Given the description of an element on the screen output the (x, y) to click on. 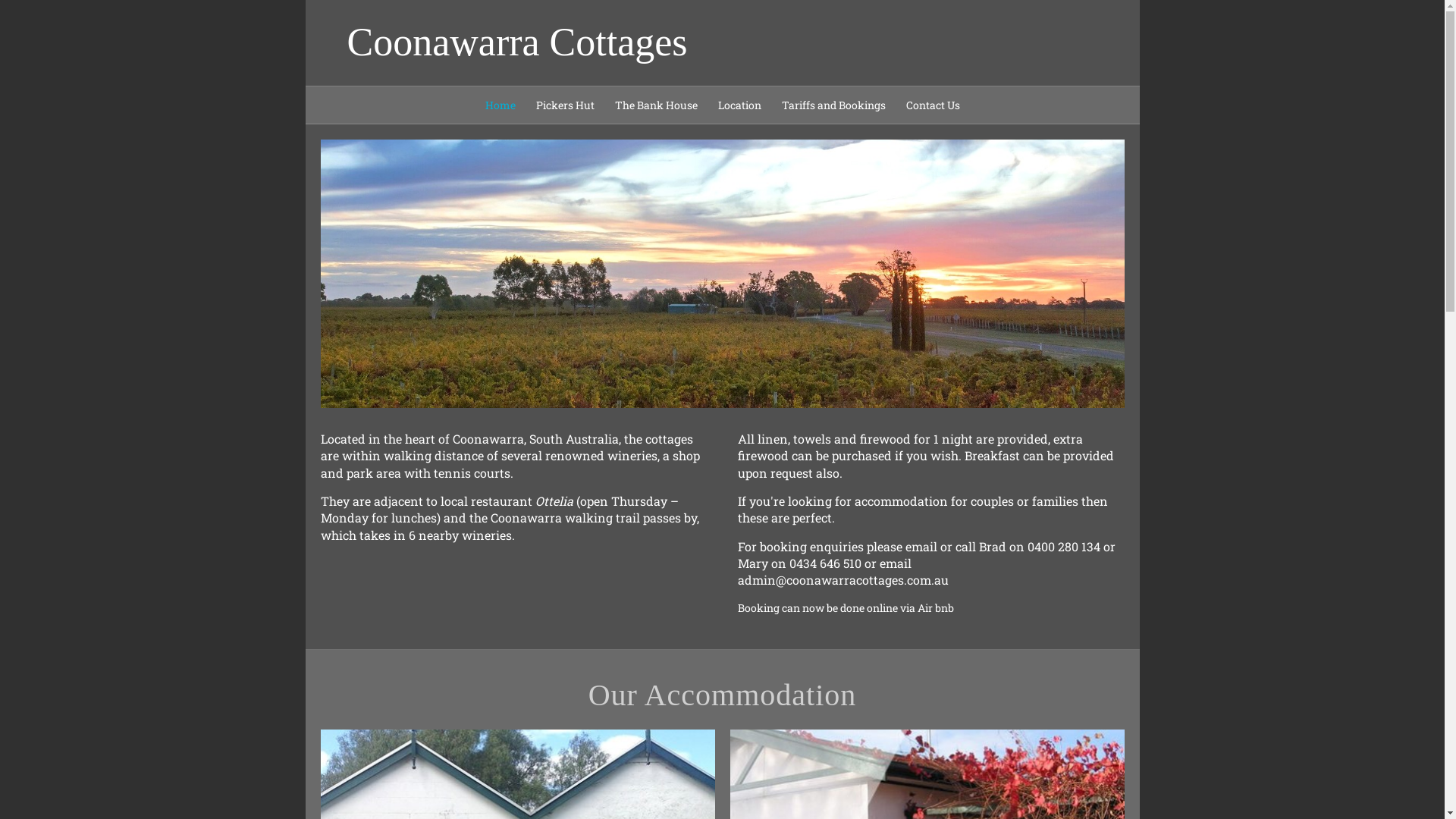
Coonwarra Vineyard Element type: hover (721, 273)
The Bank House Element type: text (655, 105)
Coonawarra Cottages Element type: text (617, 42)
Home Element type: text (500, 105)
Pickers Hut Element type: text (564, 105)
Tariffs and Bookings Element type: text (832, 105)
Contact Us Element type: text (932, 105)
Location Element type: text (738, 105)
